Given the description of an element on the screen output the (x, y) to click on. 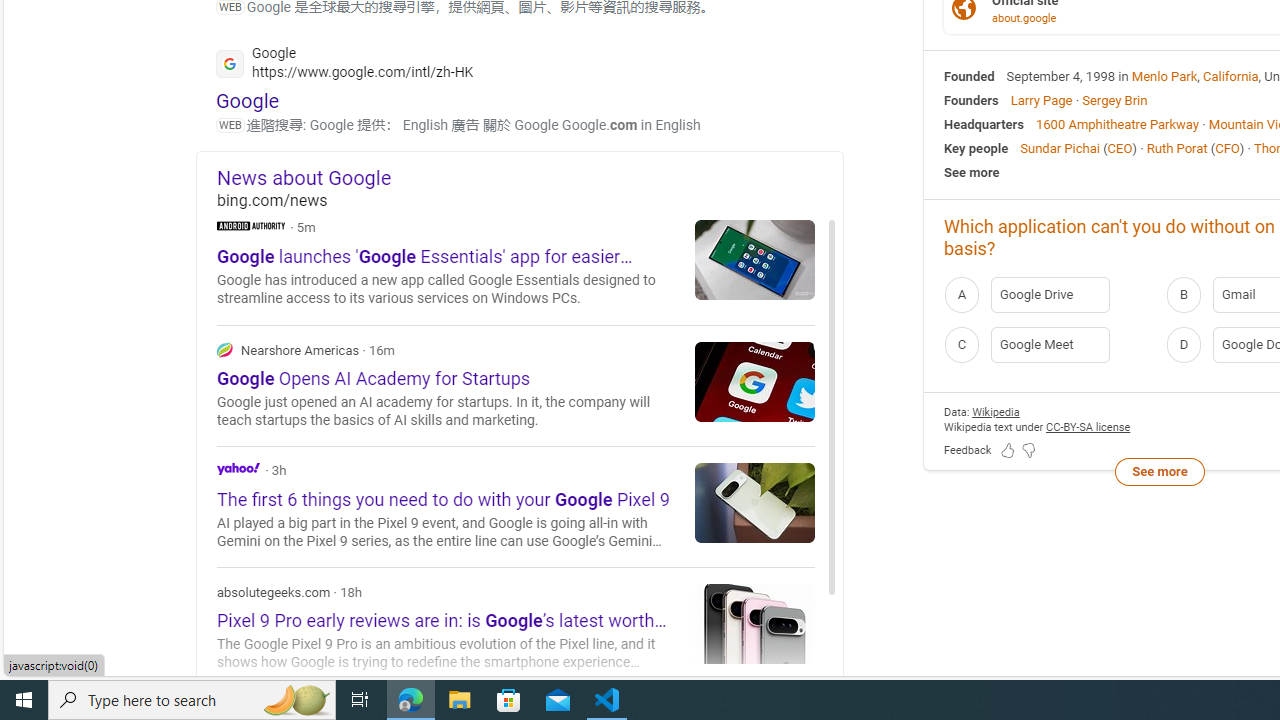
Founders (971, 100)
Headquarters (984, 123)
News about Google (530, 177)
bing.com/news (530, 199)
Google (248, 100)
Nearshore Americas (516, 384)
Larry Page (1040, 100)
A Google Drive (1049, 294)
CFO (1227, 147)
